Given the description of an element on the screen output the (x, y) to click on. 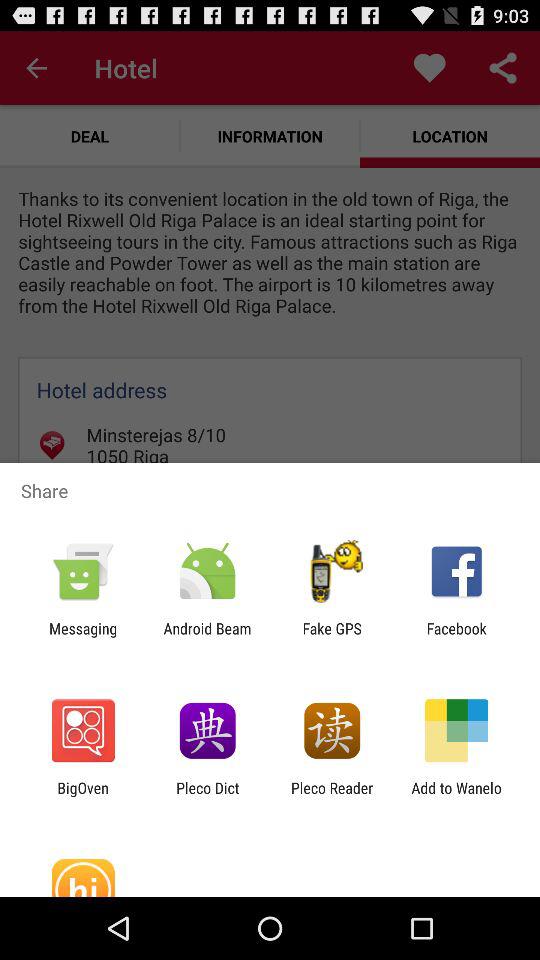
open the icon to the left of the fake gps app (207, 637)
